Given the description of an element on the screen output the (x, y) to click on. 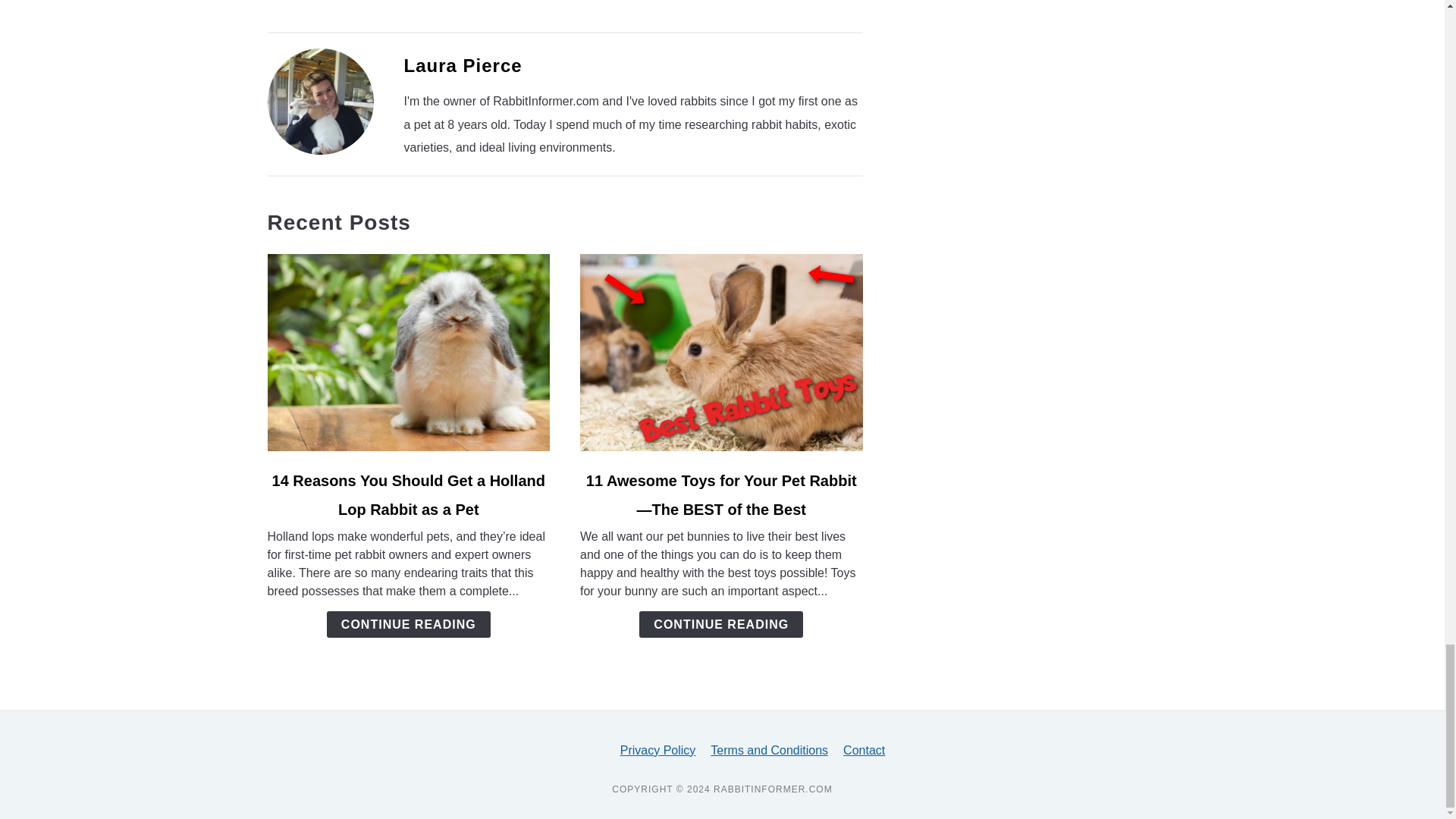
CONTINUE READING (721, 624)
Privacy Policy (657, 749)
Terms and Conditions (769, 749)
Laura Pierce (462, 65)
Contact (864, 749)
CONTINUE READING (408, 624)
14 Reasons You Should Get a Holland Lop Rabbit as a Pet (408, 494)
